Given the description of an element on the screen output the (x, y) to click on. 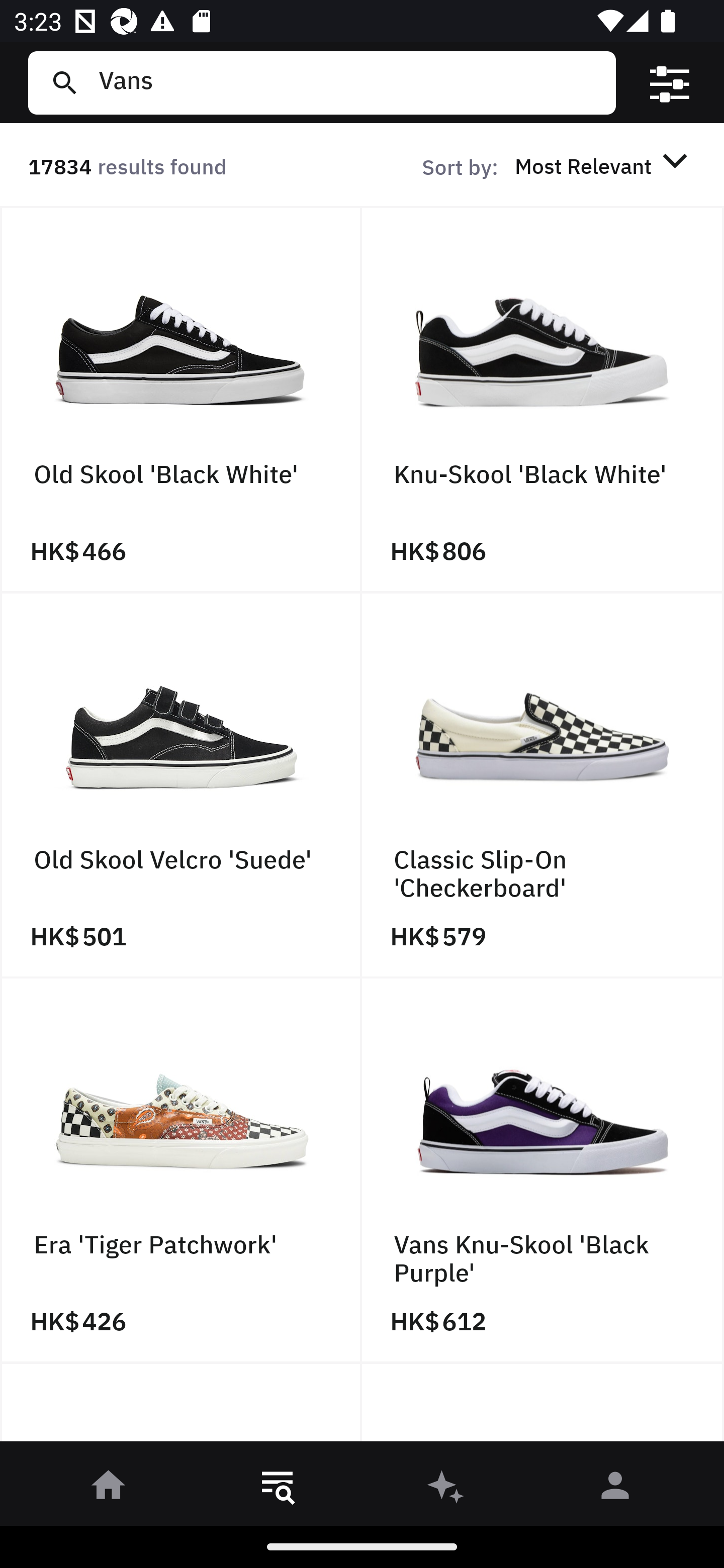
Vans (349, 82)
 (669, 82)
Most Relevant  (604, 165)
Old Skool 'Black White' HK$ 466 (181, 399)
Knu-Skool 'Black White' HK$ 806 (543, 399)
Old Skool Velcro 'Suede' HK$ 501 (181, 785)
Classic Slip-On 'Checkerboard' HK$ 579 (543, 785)
Era 'Tiger Patchwork' HK$ 426 (181, 1171)
Vans Knu-Skool 'Black Purple' HK$ 612 (543, 1171)
󰋜 (108, 1488)
󱎸 (277, 1488)
󰫢 (446, 1488)
󰀄 (615, 1488)
